Given the description of an element on the screen output the (x, y) to click on. 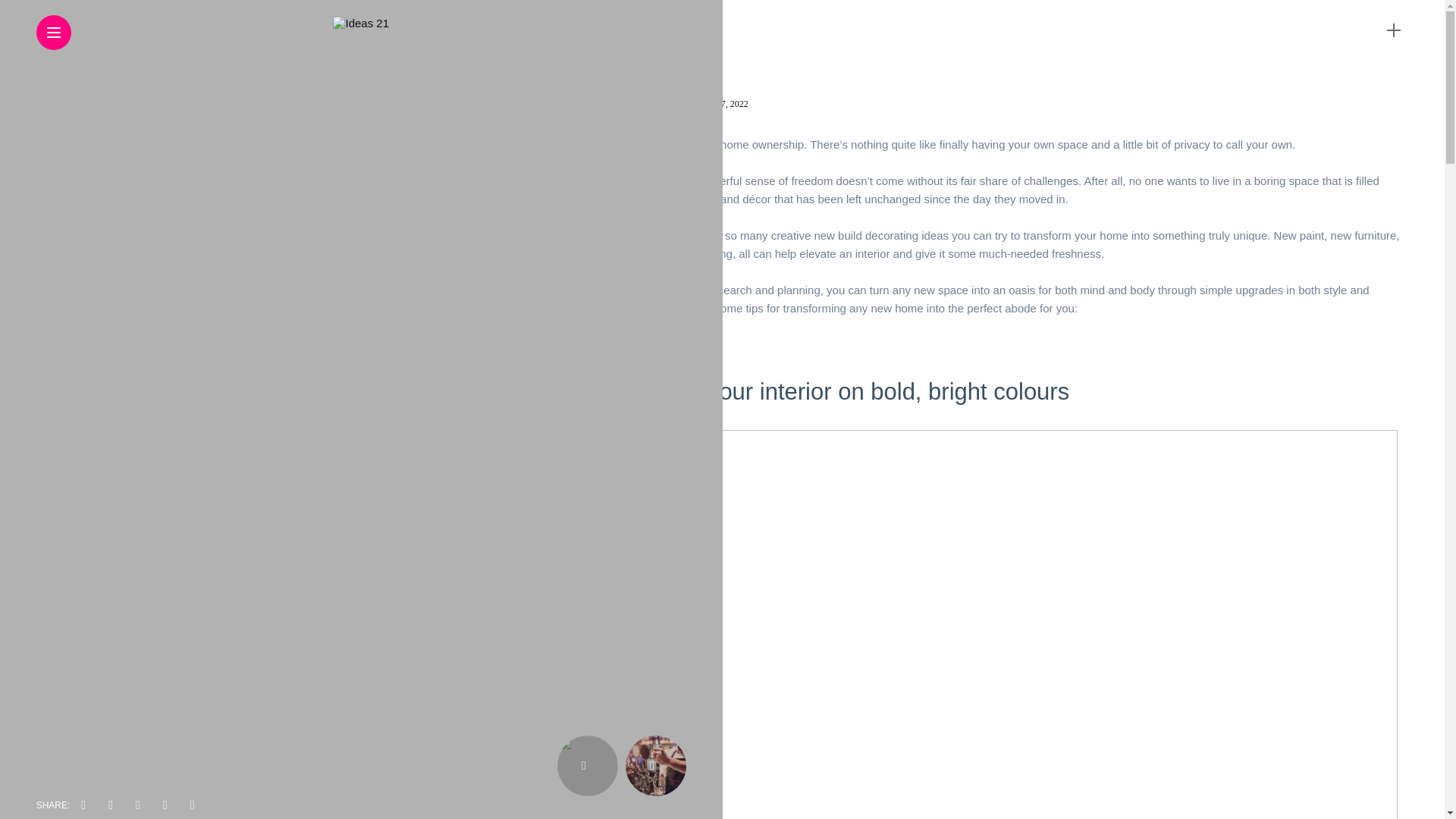
Posts by John Ball (670, 103)
